Given the description of an element on the screen output the (x, y) to click on. 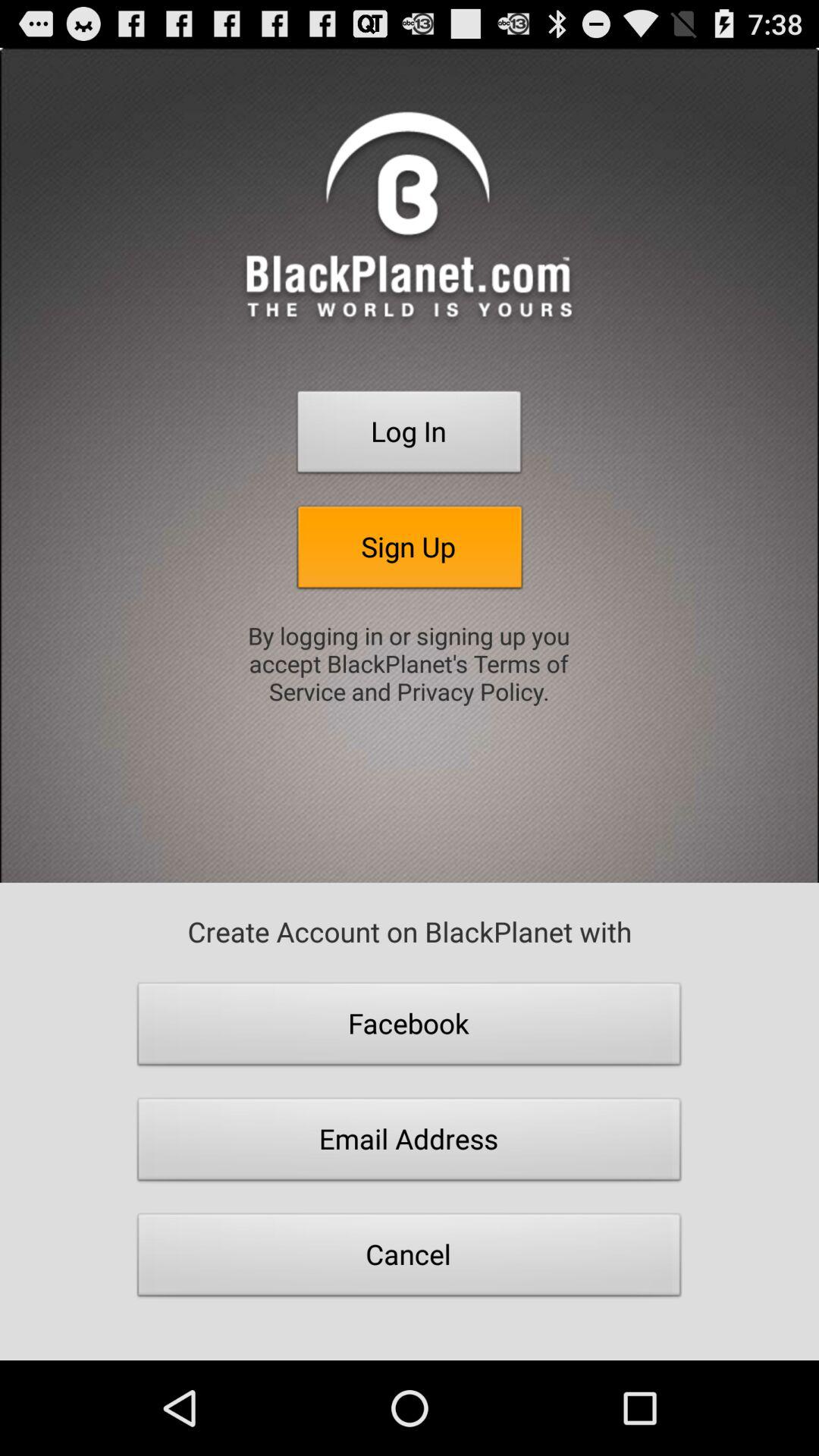
swipe until log in icon (409, 436)
